Given the description of an element on the screen output the (x, y) to click on. 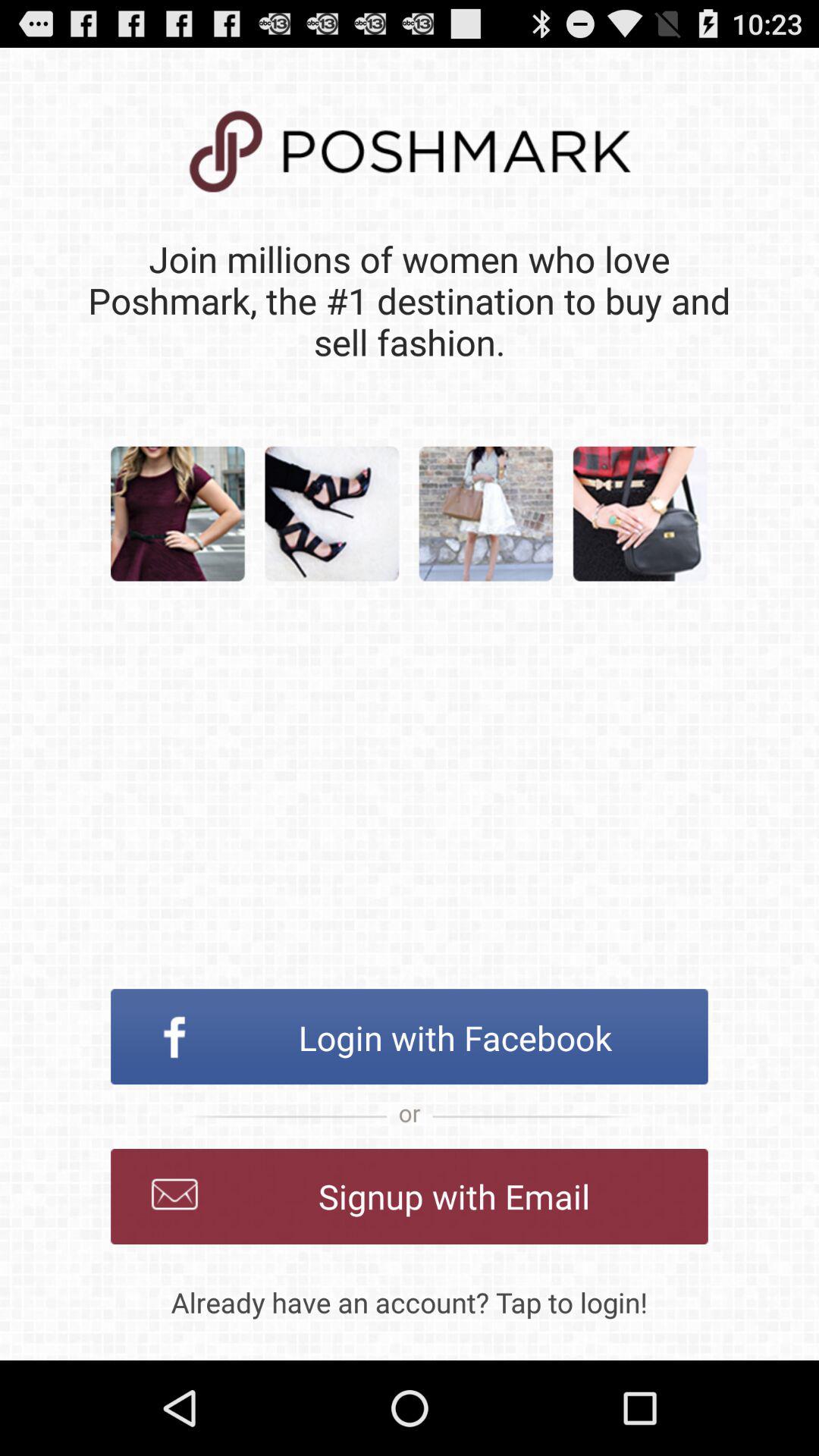
open icon above or icon (409, 1036)
